Given the description of an element on the screen output the (x, y) to click on. 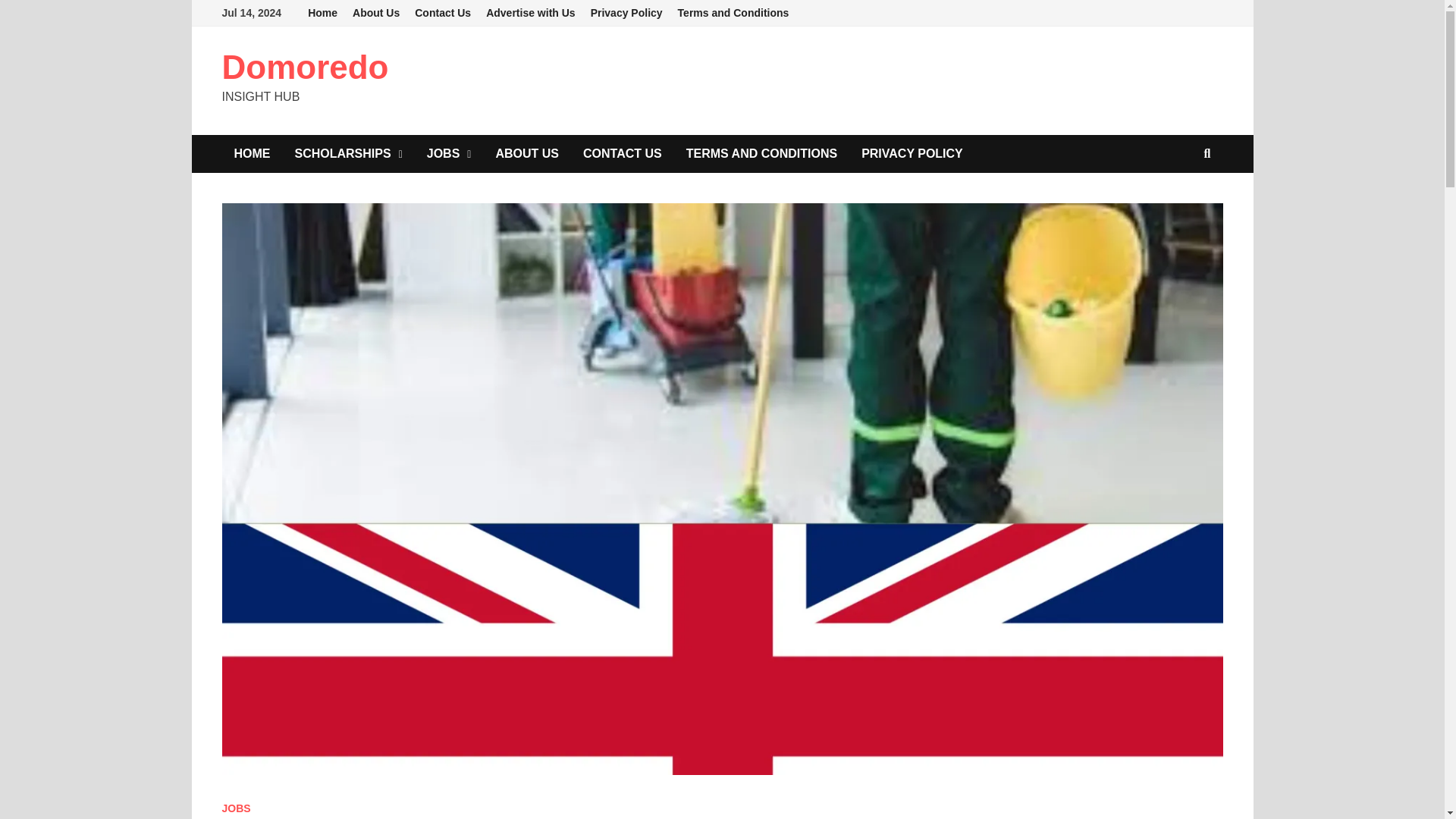
Privacy Policy (626, 13)
JOBS (448, 153)
Terms and Conditions (732, 13)
TERMS AND CONDITIONS (761, 153)
Domoredo (304, 66)
CONTACT US (622, 153)
ABOUT US (526, 153)
Advertise with Us (530, 13)
About Us (376, 13)
JOBS (235, 808)
HOME (251, 153)
SCHOLARSHIPS (347, 153)
Contact Us (443, 13)
Home (322, 13)
PRIVACY POLICY (911, 153)
